Given the description of an element on the screen output the (x, y) to click on. 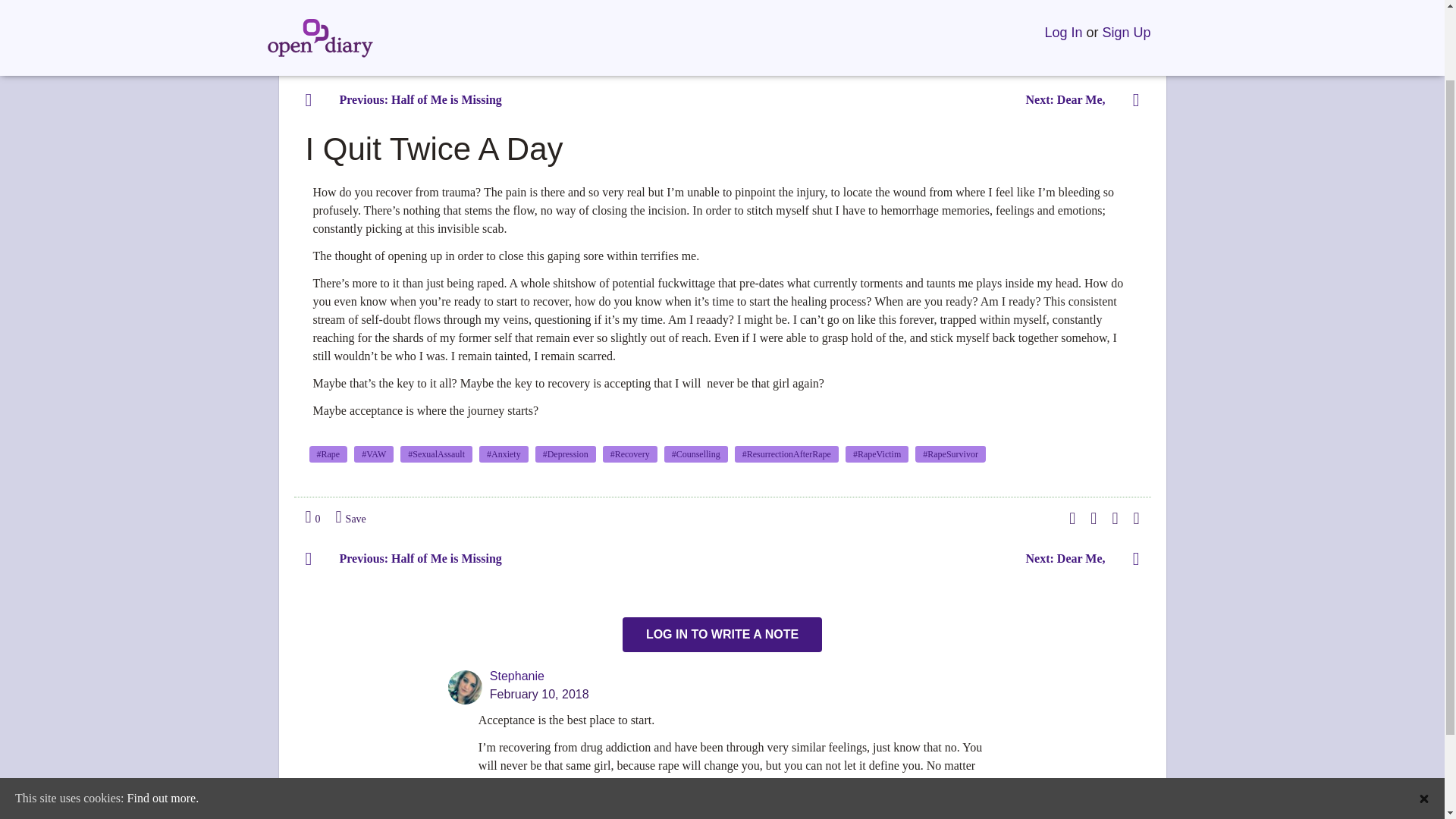
Previous: Half of Me is Missing (409, 558)
Princess Pitbull.com (412, 28)
LOG IN TO WRITE A NOTE (722, 634)
2018-02-10 08:26:28 (539, 694)
2018-01-15 01:33 pm (412, 46)
Next: Dear Me, (1077, 558)
Stephanie (516, 675)
Next: Dear Me, (1077, 99)
Previous: Half of Me is Missing (409, 99)
